Given the description of an element on the screen output the (x, y) to click on. 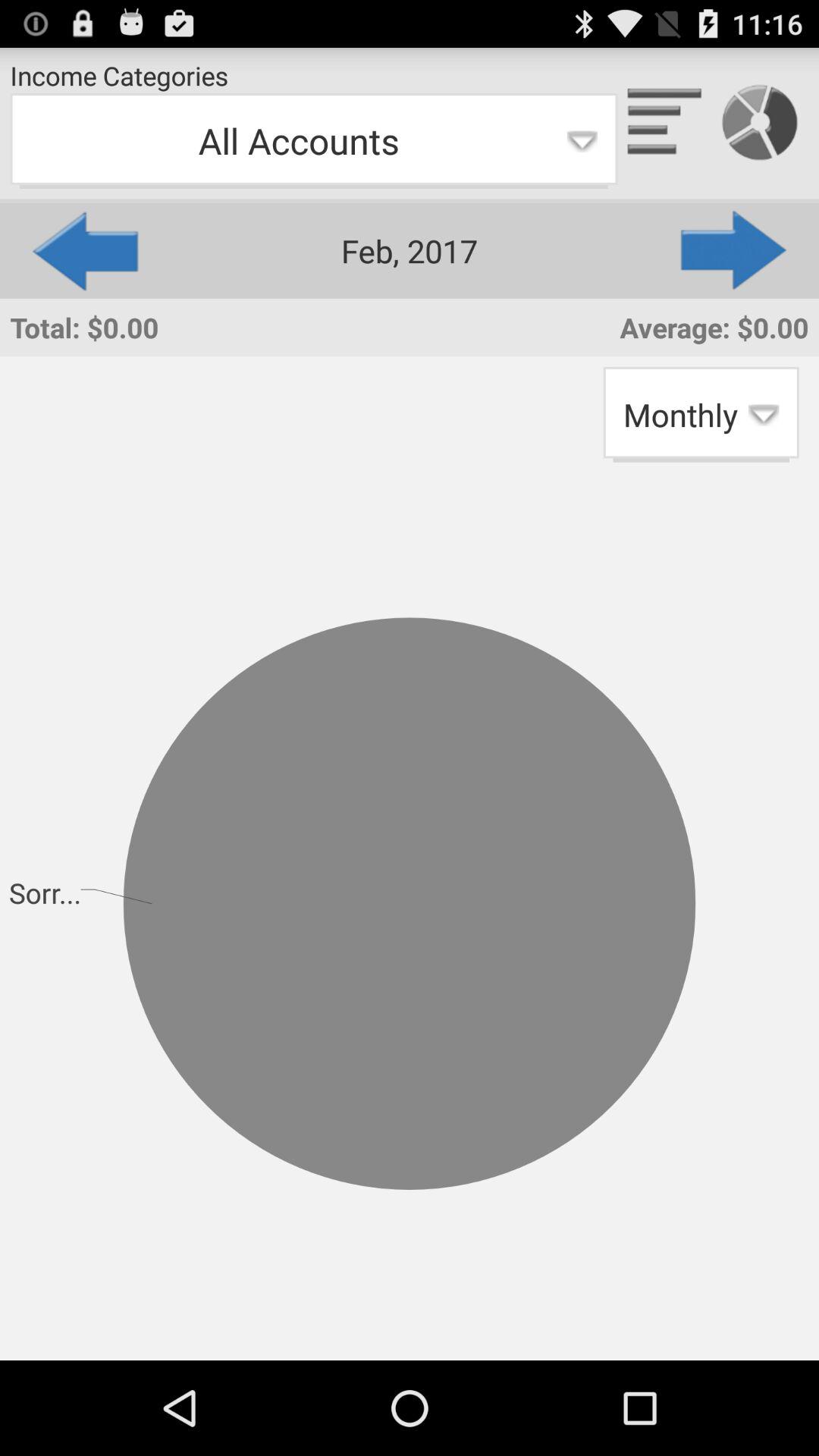
turn off the icon next to the income categories icon (665, 123)
